Given the description of an element on the screen output the (x, y) to click on. 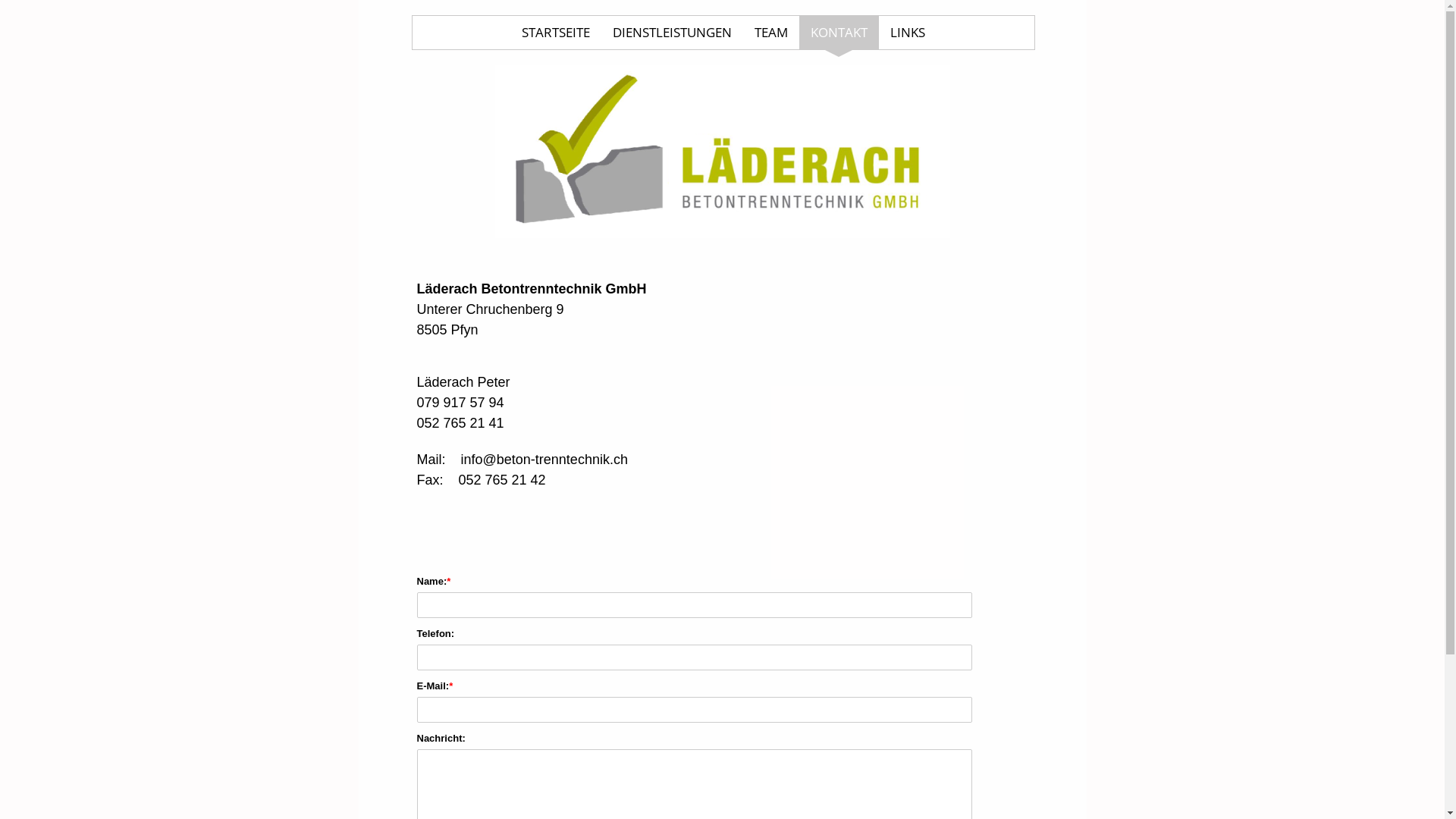
KONTAKT Element type: text (838, 32)
STARTSEITE Element type: text (554, 32)
TEAM Element type: text (771, 32)
LINKS Element type: text (906, 32)
DIENSTLEISTUNGEN Element type: text (671, 32)
